Given the description of an element on the screen output the (x, y) to click on. 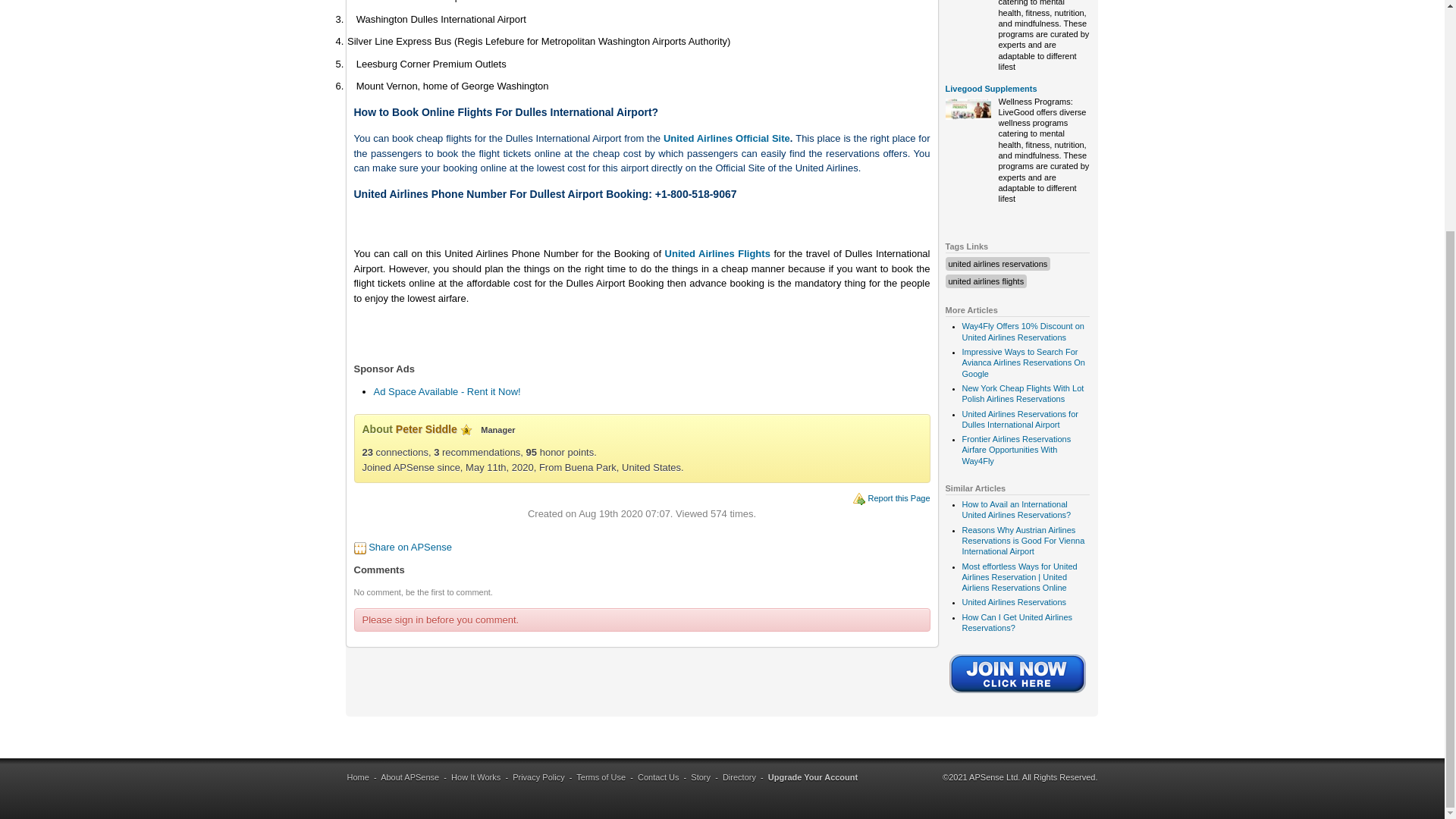
New York Cheap Flights With Lot Polish Airlines Reservations (1021, 393)
Peter Siddle (426, 428)
united airlines reservations (996, 263)
Ad Space Available - Rent it Now! (445, 391)
United Airlines Flights (717, 253)
How to Avail an International United Airlines Reservations? (1015, 509)
Innovator (465, 429)
How Can I Get  United Airlines Reservations? (1015, 622)
Share on APSense (409, 546)
United Airlines Reservations (1012, 601)
Join APSense Social Network (1017, 694)
Report this Page (898, 497)
